Given the description of an element on the screen output the (x, y) to click on. 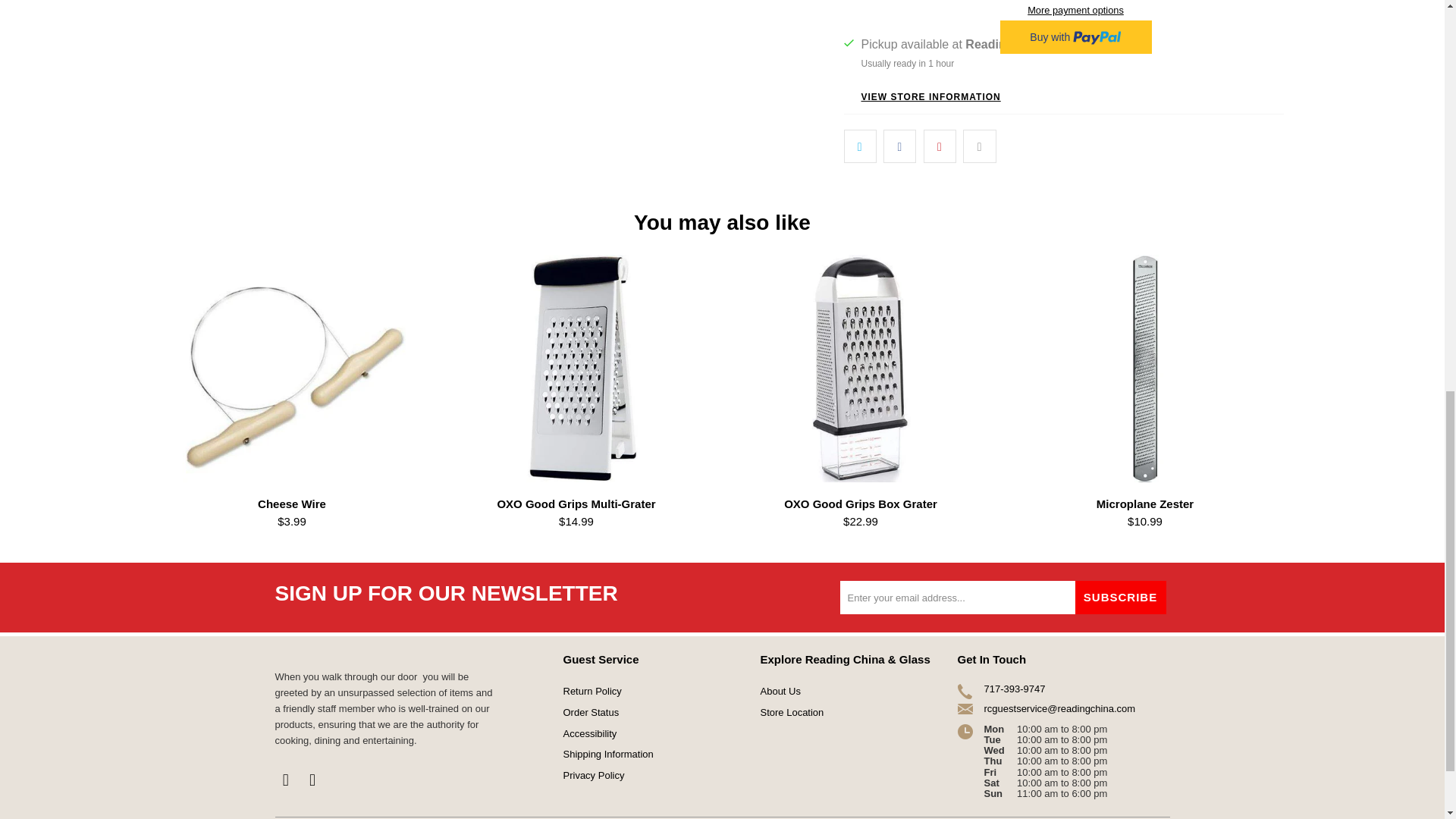
Share this on Pinterest (939, 145)
Share this on Facebook (899, 145)
Share this on Twitter (859, 145)
Email this to a friend (978, 145)
Subscribe (1120, 597)
